Given the description of an element on the screen output the (x, y) to click on. 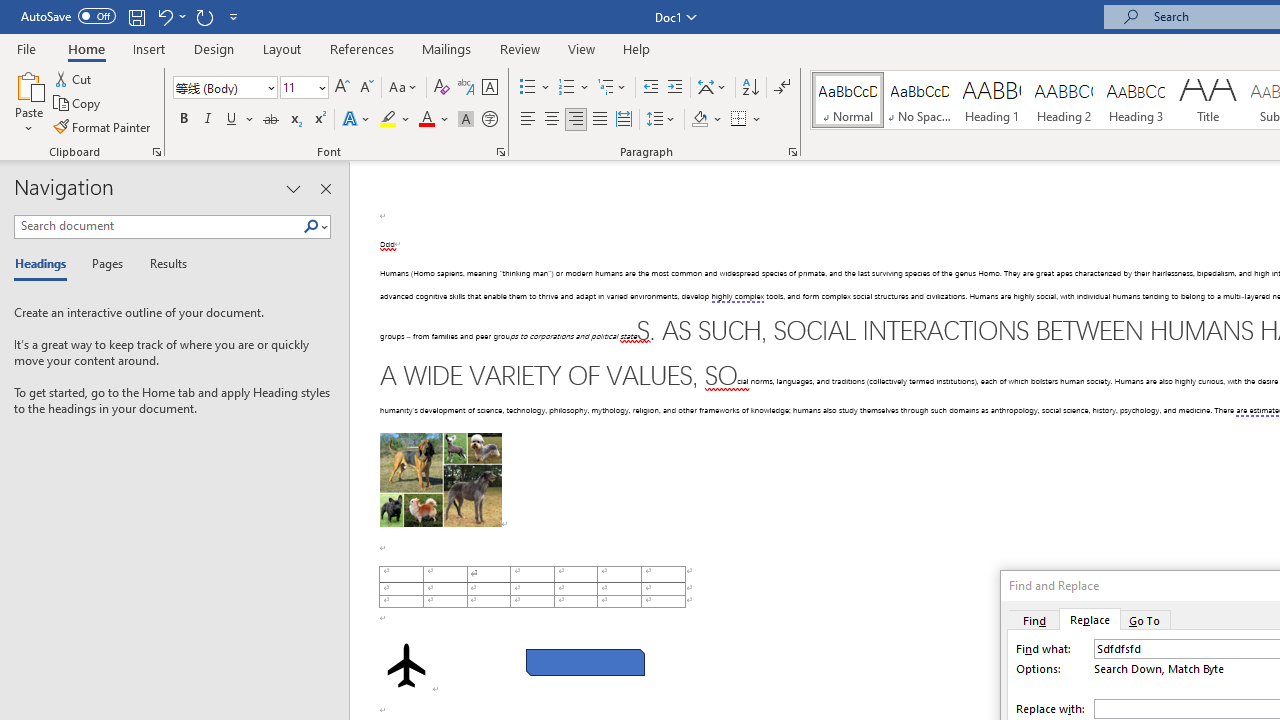
Line and Paragraph Spacing (661, 119)
View (582, 48)
Bullets (535, 87)
